Given the description of an element on the screen output the (x, y) to click on. 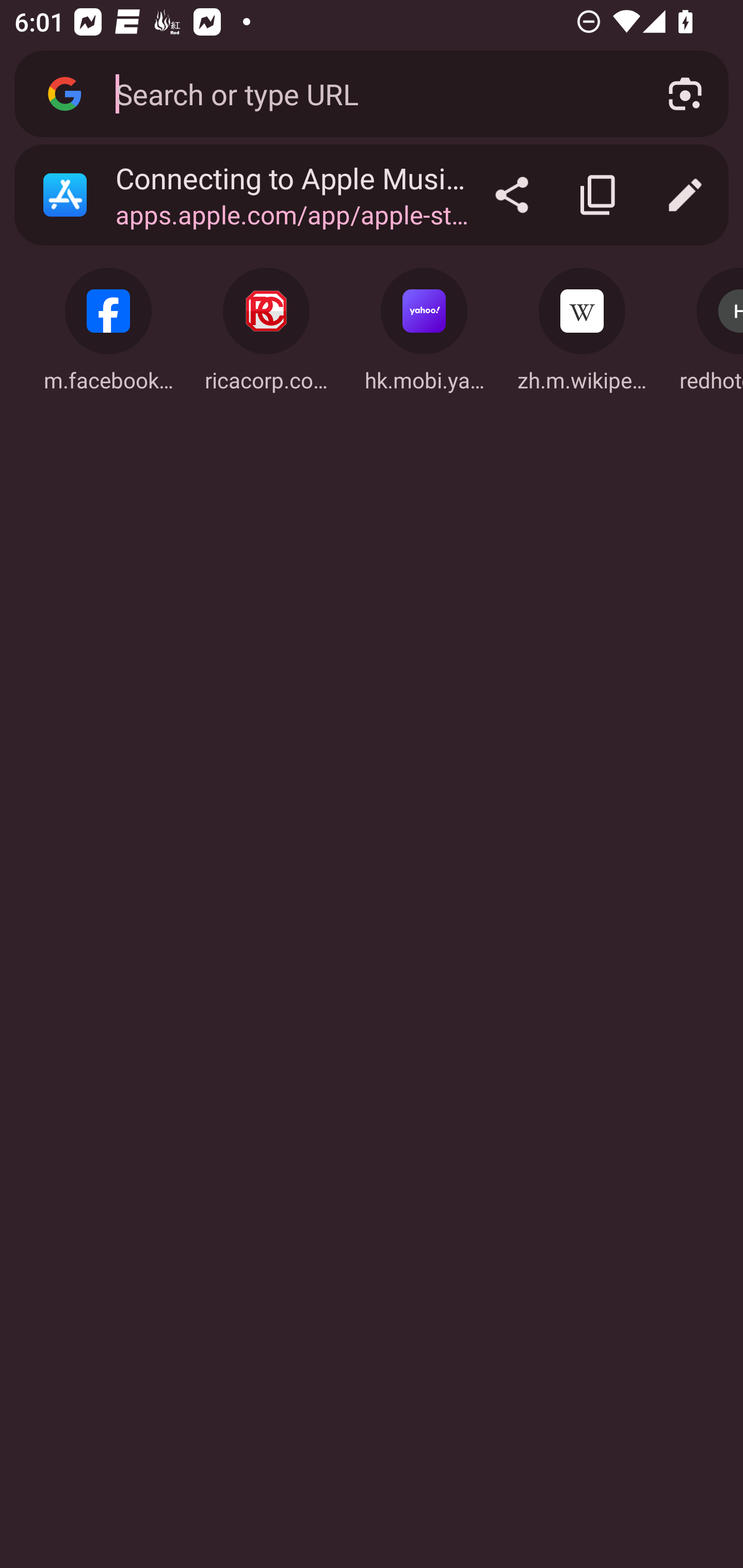
Search with your camera using Google Lens (684, 93)
Search or type URL (367, 92)
Share… (511, 195)
Copy link (598, 195)
Edit (684, 195)
